Given the description of an element on the screen output the (x, y) to click on. 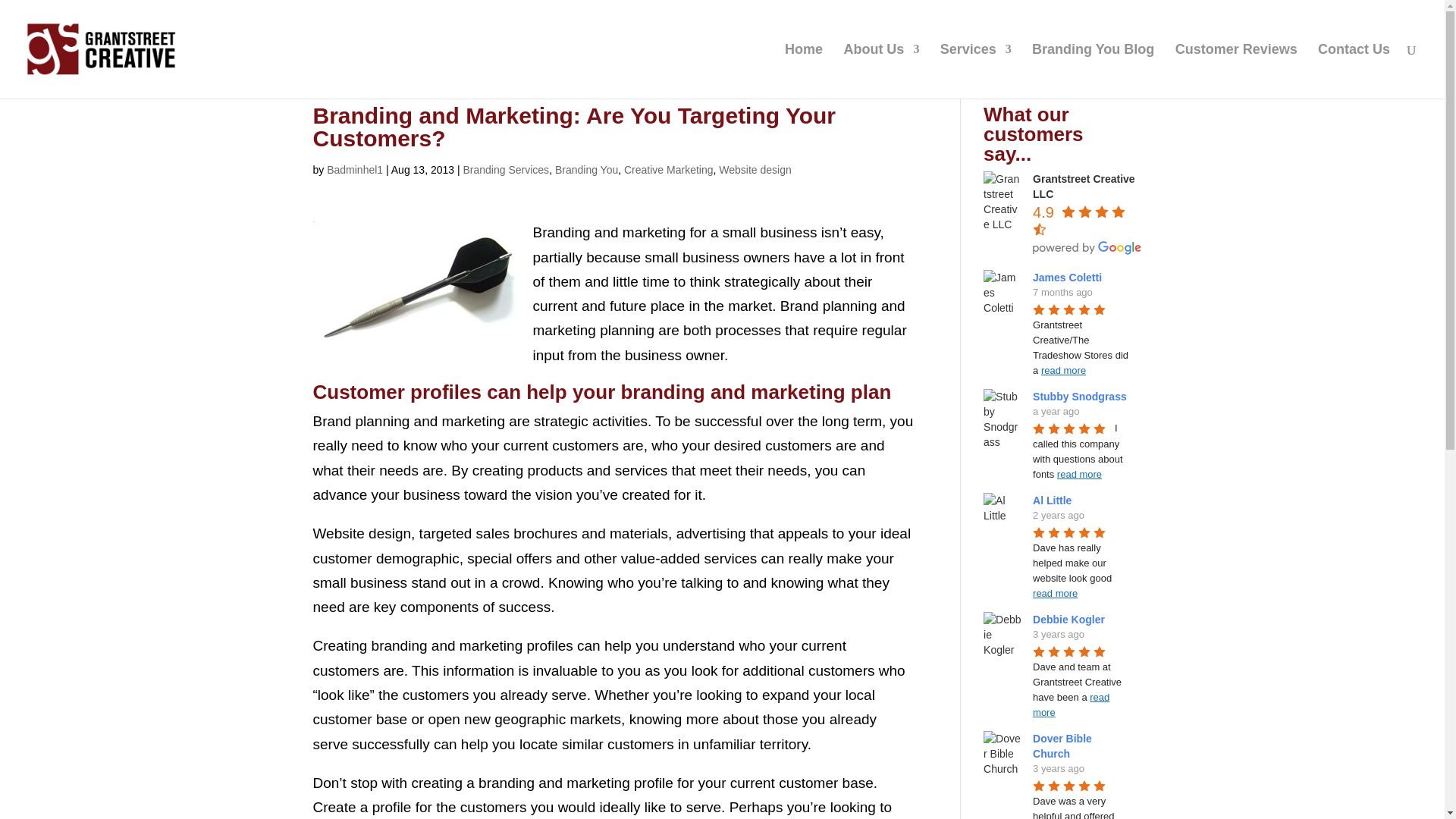
Contact Us (1353, 71)
Branding Services (505, 169)
James Coletti (1069, 277)
Badminhel1 (354, 169)
Stubby Snodgrass (1081, 396)
Al Little (1053, 500)
Posts by Badminhel1 (354, 169)
Customer Reviews (1235, 71)
Grantstreet Creative LLC (1083, 185)
Services (975, 71)
